Given the description of an element on the screen output the (x, y) to click on. 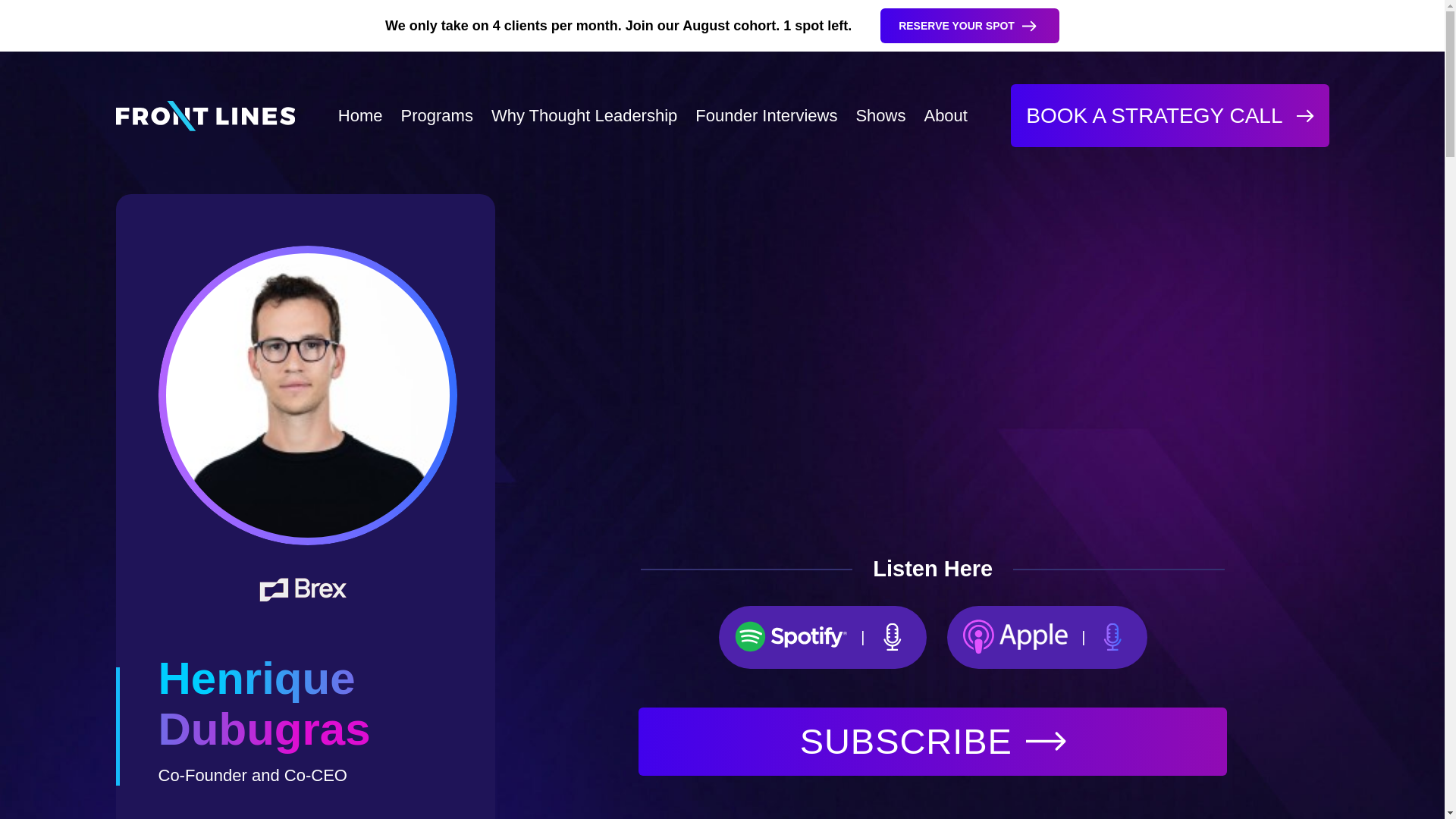
SUBSCRIBE (933, 741)
BOOK A STRATEGY CALL (1168, 115)
Why Thought Leadership (584, 116)
Programs (437, 116)
Shows (880, 116)
Home (359, 116)
About (945, 116)
RESERVE YOUR SPOT (969, 25)
Founder Interviews (766, 116)
